Given the description of an element on the screen output the (x, y) to click on. 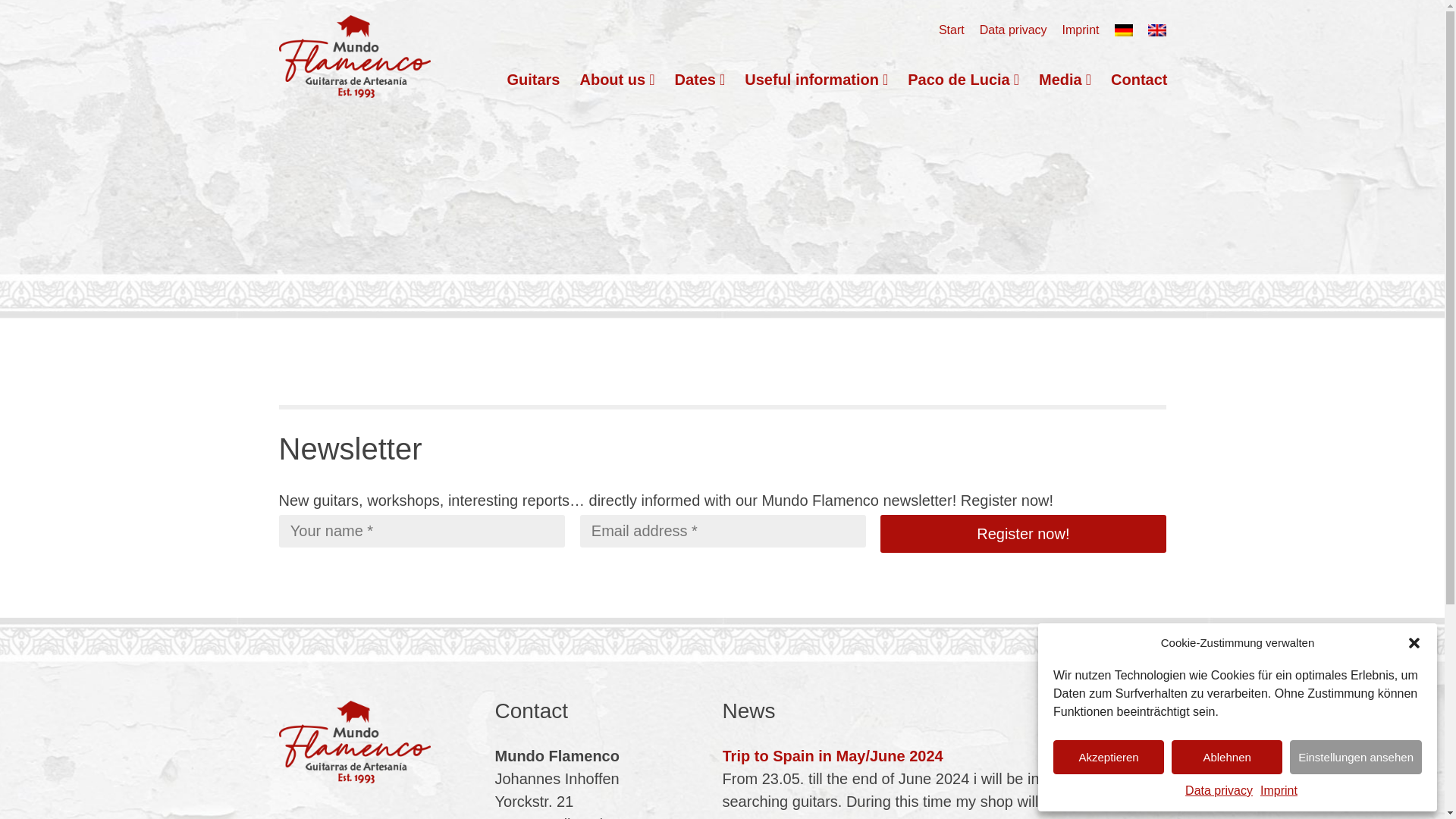
Guitars (532, 79)
Email address (721, 531)
Useful information (816, 79)
Akzeptieren (1107, 756)
Ablehnen (1227, 756)
Start (951, 30)
Einstellungen ansehen (1356, 756)
Imprint (1278, 791)
Dates (699, 79)
Data privacy (1013, 30)
